Given the description of an element on the screen output the (x, y) to click on. 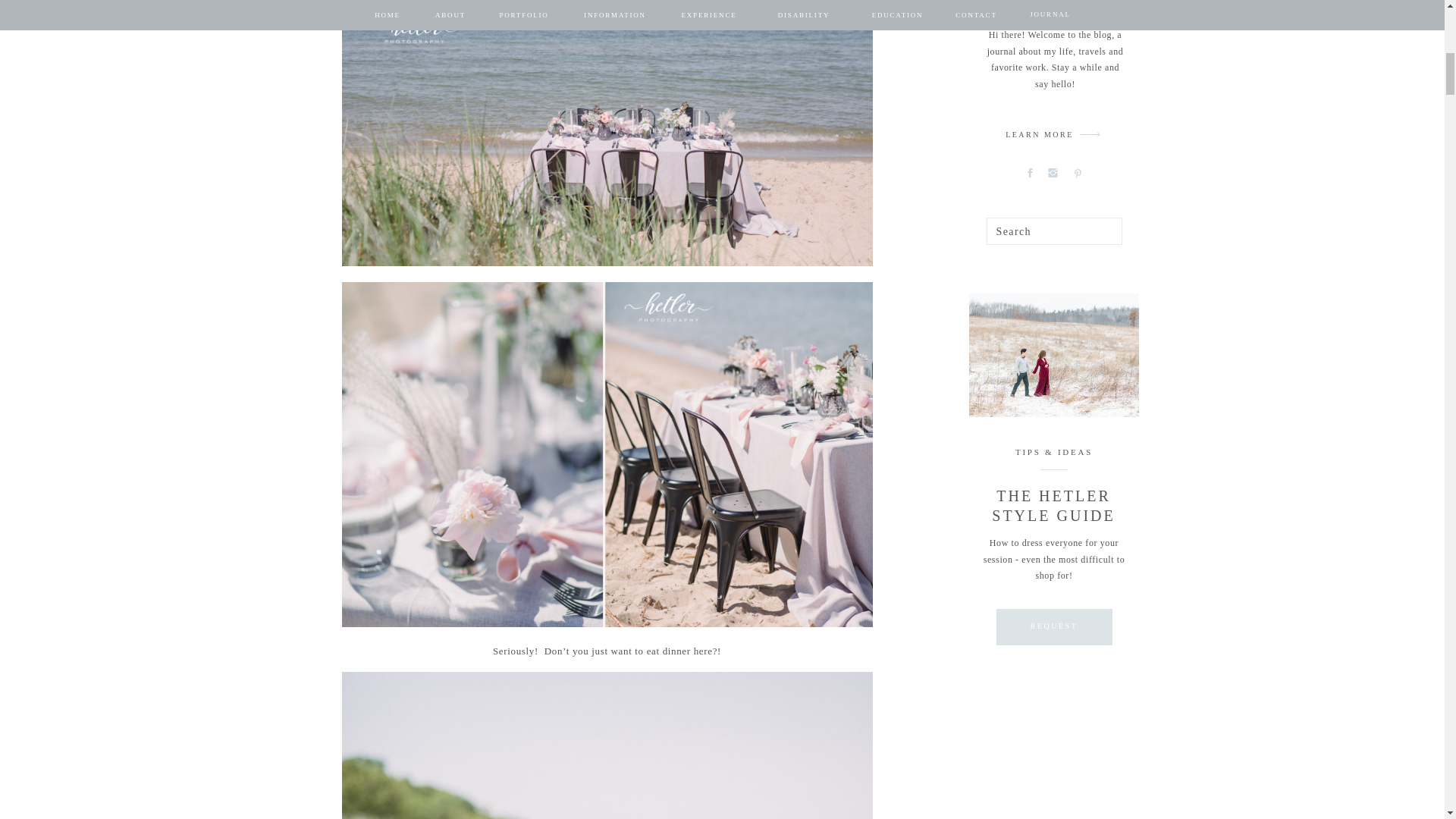
arrow (1089, 134)
